Given the description of an element on the screen output the (x, y) to click on. 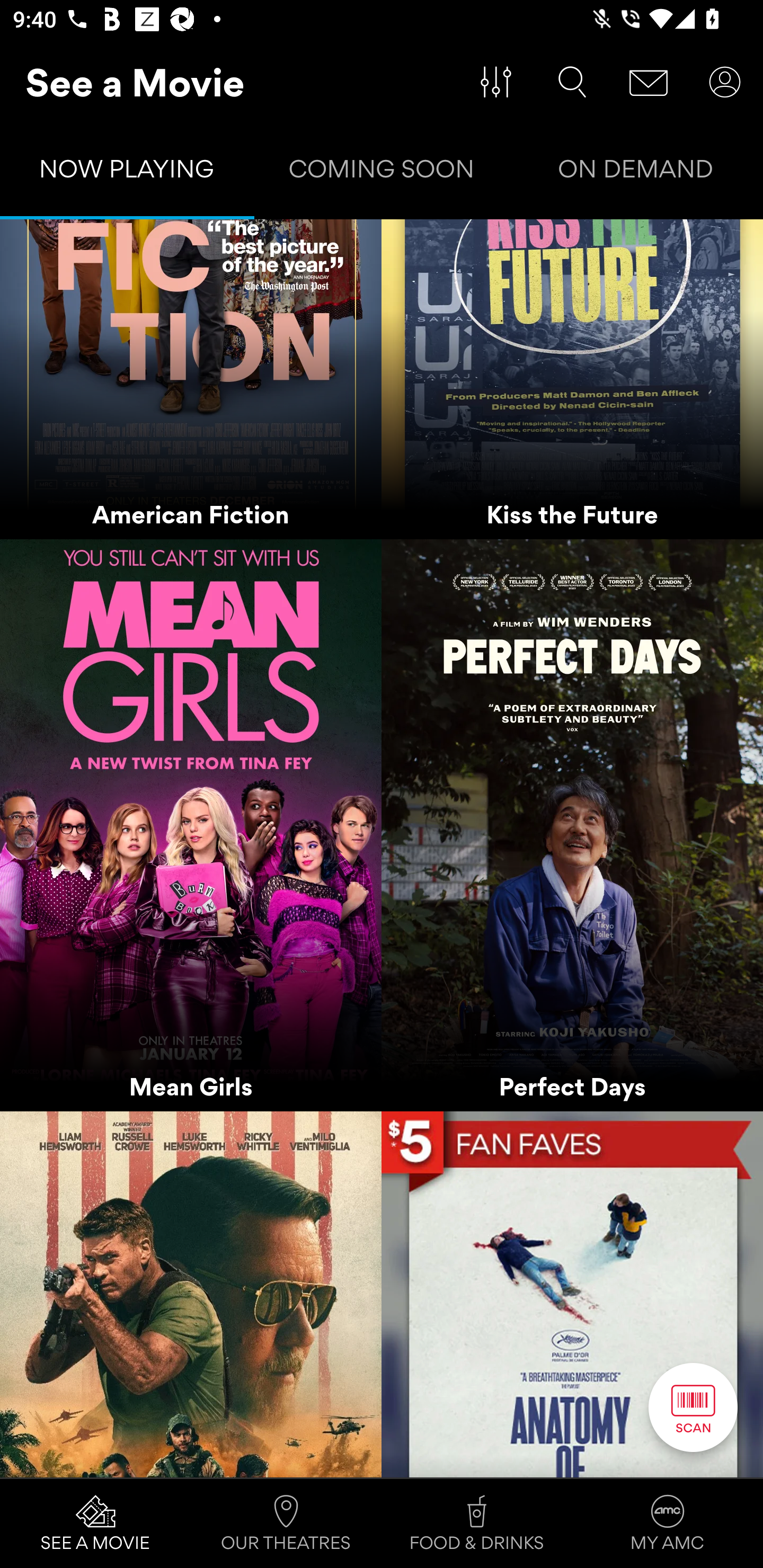
Filter Movies (495, 82)
Search (572, 82)
Message Center (648, 82)
User Account (724, 82)
NOW PLAYING
Tab 1 of 3 (127, 173)
COMING SOON
Tab 2 of 3 (381, 173)
ON DEMAND
Tab 3 of 3 (635, 173)
American Fiction (190, 379)
Kiss the Future (572, 379)
Mean Girls (190, 825)
Perfect Days (572, 825)
Land of Bad (190, 1294)
Anatomy of a Fall (572, 1294)
Scan Button (692, 1406)
SEE A MOVIE
Tab 1 of 4 (95, 1523)
OUR THEATRES
Tab 2 of 4 (285, 1523)
FOOD & DRINKS
Tab 3 of 4 (476, 1523)
MY AMC
Tab 4 of 4 (667, 1523)
